Given the description of an element on the screen output the (x, y) to click on. 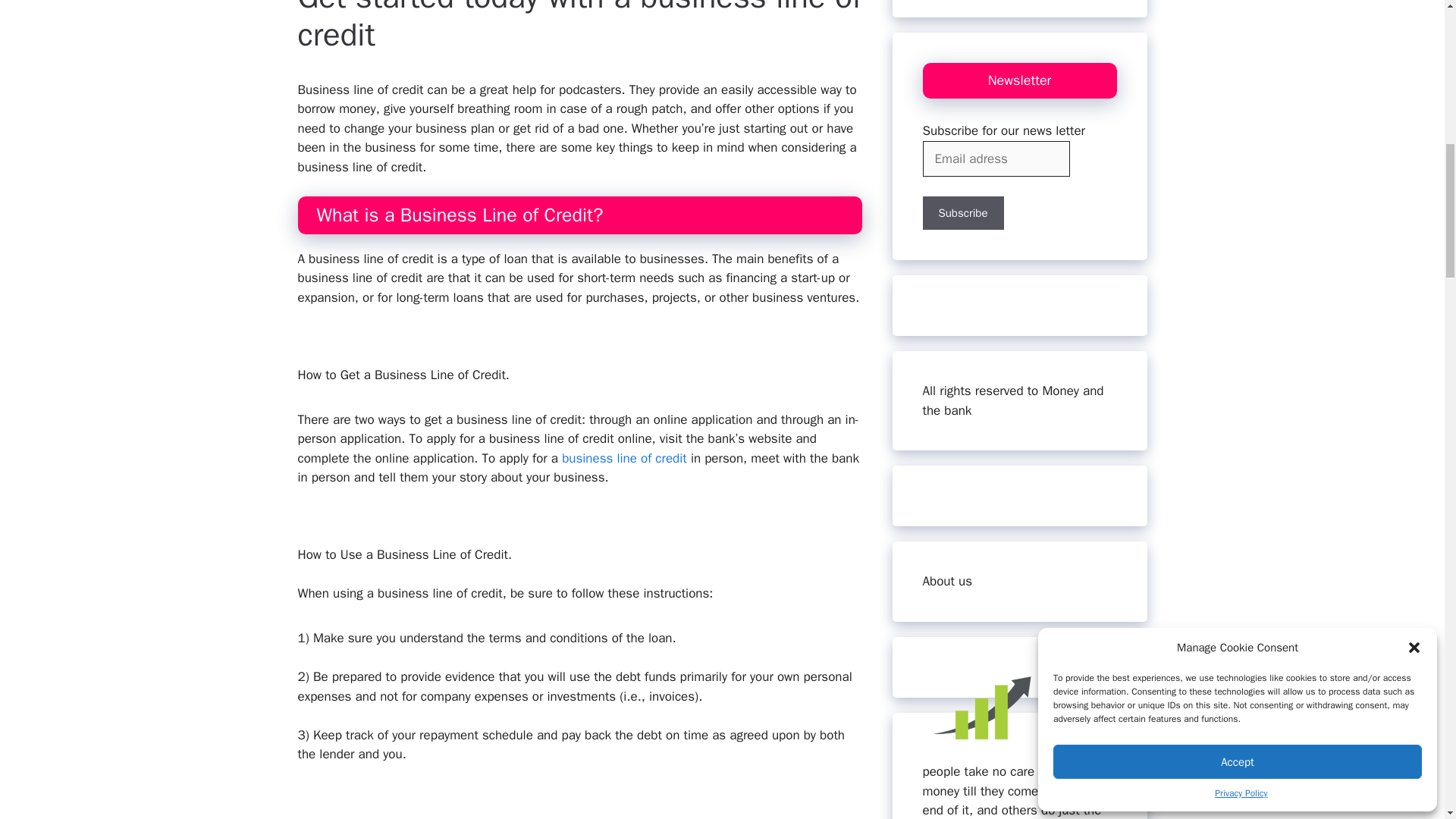
Subscribe (962, 213)
business line of credit (624, 458)
